Given the description of an element on the screen output the (x, y) to click on. 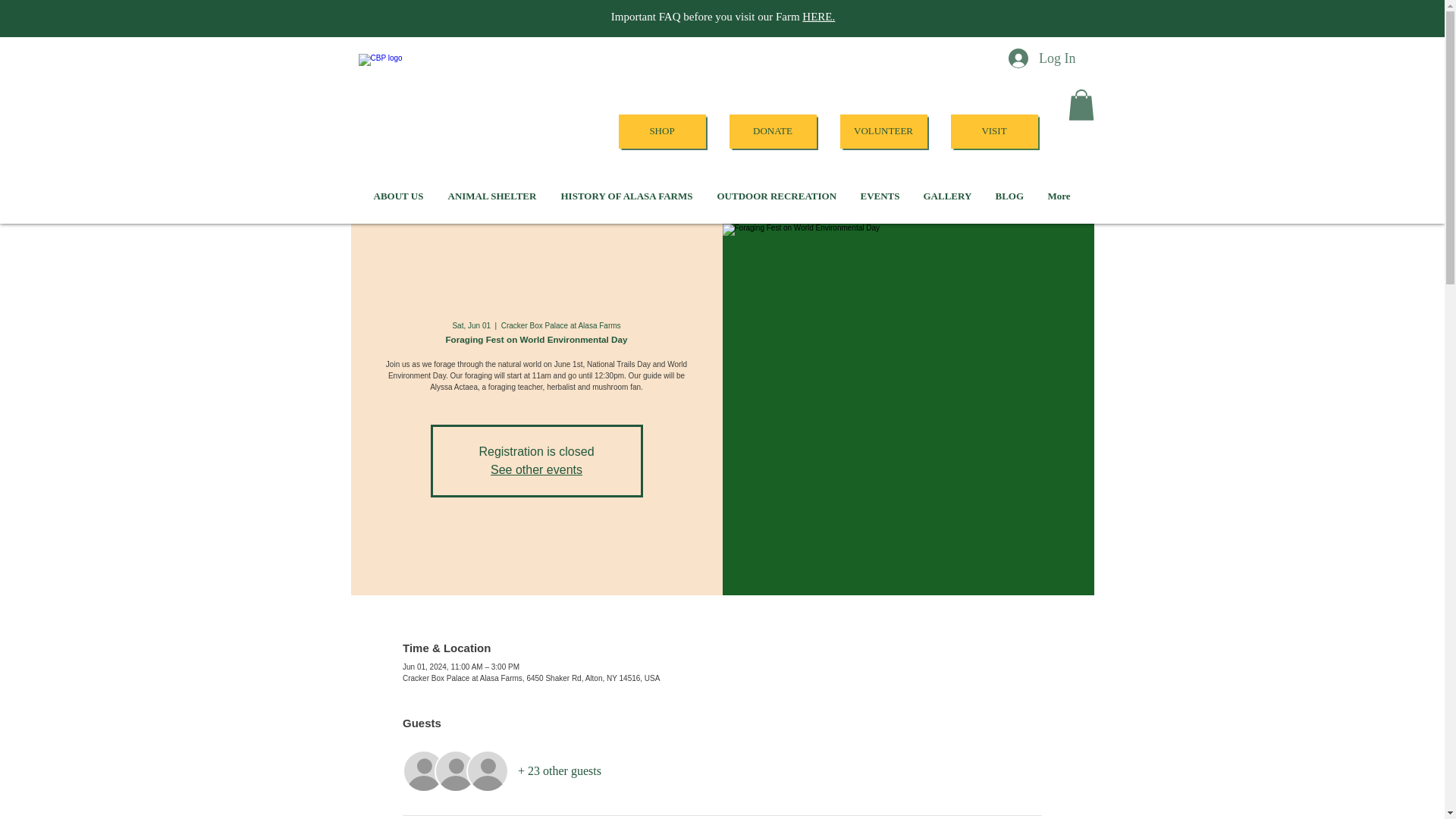
OUTDOOR RECREATION (776, 195)
VOLUNTEER (883, 131)
EVENTS (879, 195)
VISIT (994, 131)
SHOP (662, 131)
DONATE (772, 131)
HERE. (818, 16)
BLOG (1008, 195)
See other events (536, 469)
HISTORY OF ALASA FARMS (626, 195)
ANIMAL SHELTER (491, 195)
Log In (1041, 58)
GALLERY (947, 195)
ABOUT US (398, 195)
